Given the description of an element on the screen output the (x, y) to click on. 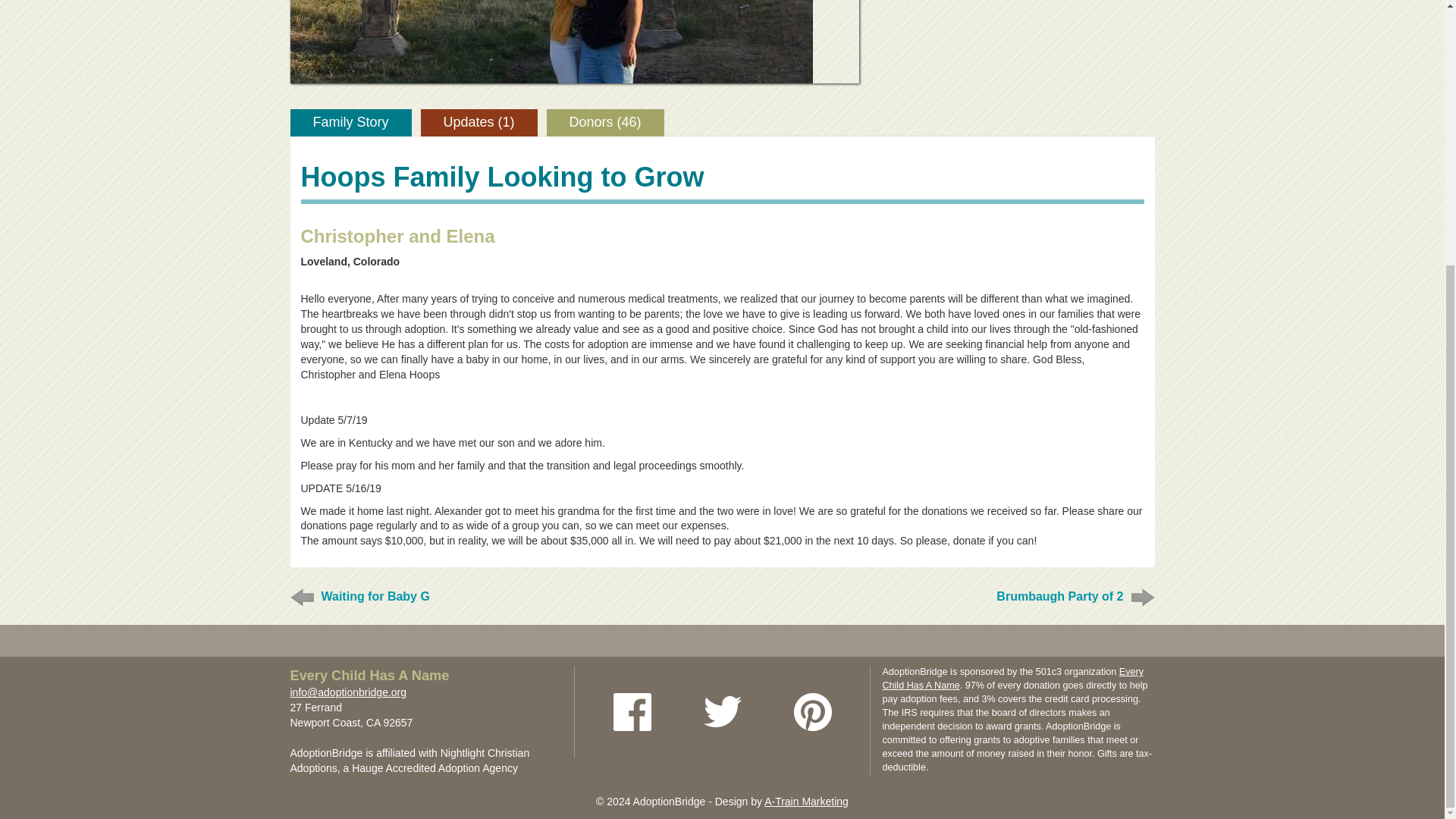
Brumbaugh Party of 2 (1058, 595)
Every Child Has A Name (368, 676)
A-Train Marketing (806, 801)
Every Child Has A Name (1012, 678)
Waiting for Baby G (375, 595)
Family Story (349, 122)
